Given the description of an element on the screen output the (x, y) to click on. 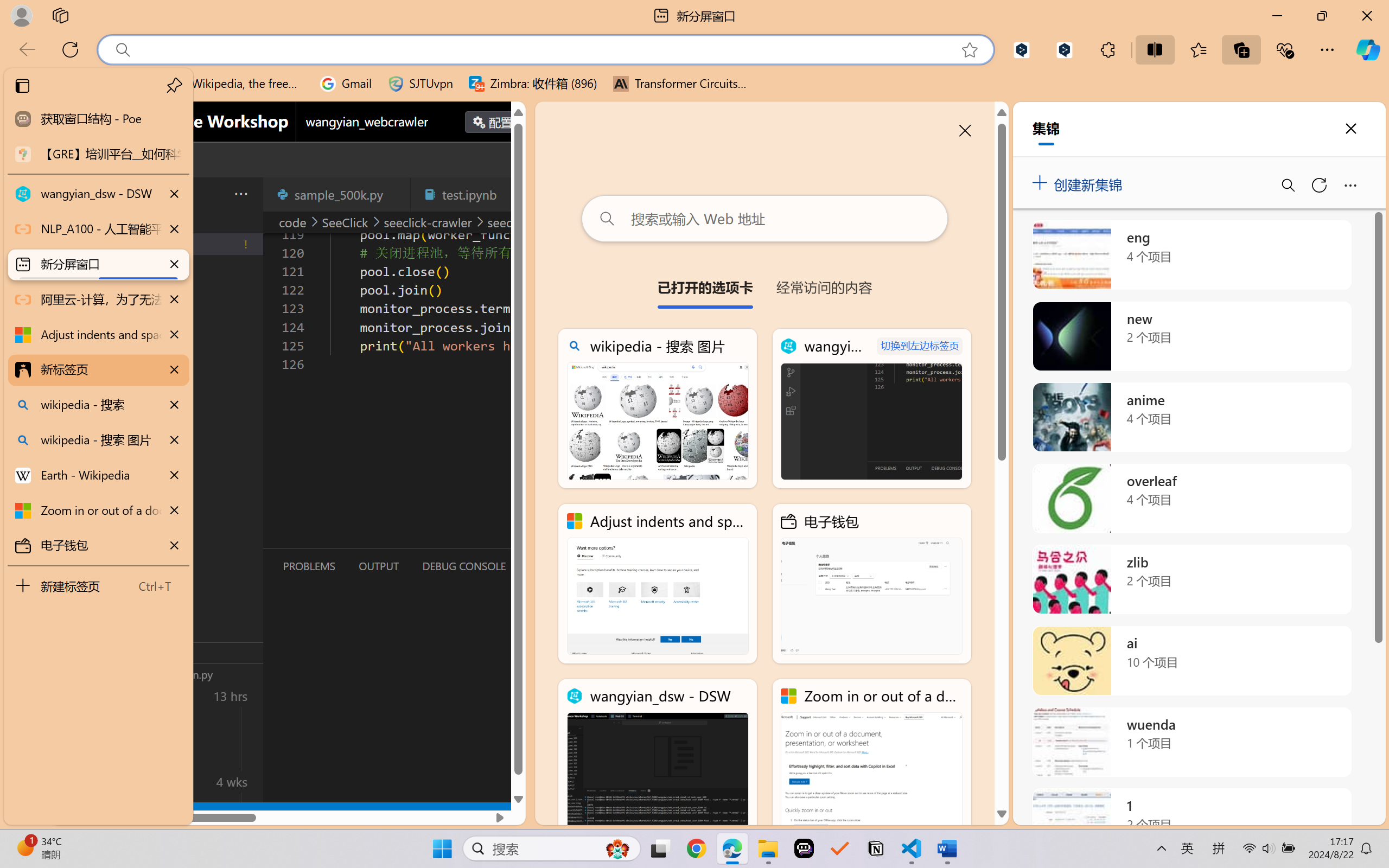
Source Control (Ctrl+Shift+G) (73, 328)
Manage (73, 778)
sample_500k.py (336, 194)
Explorer actions (212, 194)
